Given the description of an element on the screen output the (x, y) to click on. 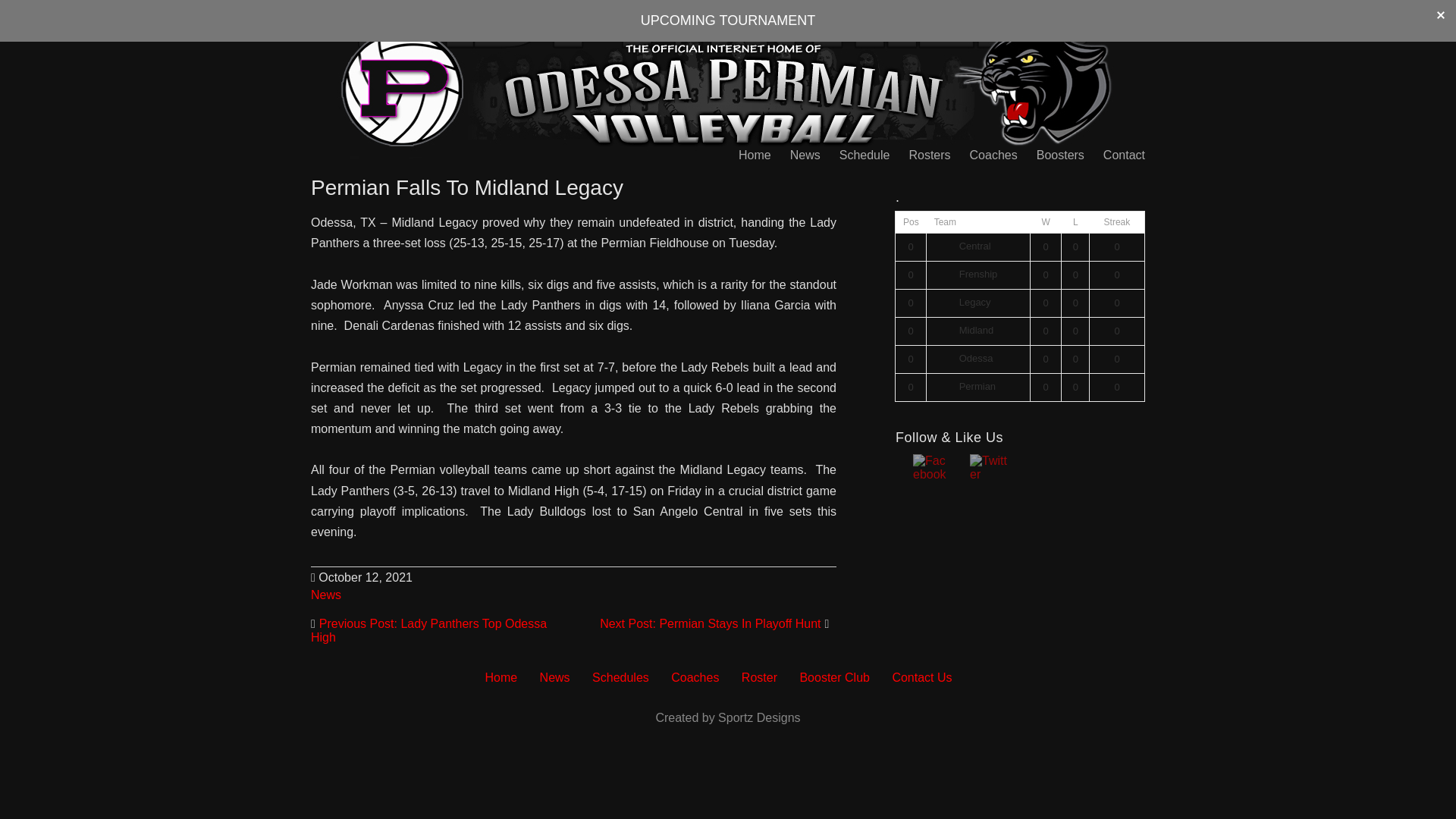
Booster Club (834, 676)
UPCOMING TOURNAMENT (727, 20)
Twitter (988, 467)
News (555, 676)
Previous Post: Lady Panthers Top Odessa High (429, 630)
Coaches (695, 676)
Contact Us (921, 676)
News (805, 155)
Next Post: Permian Stays In Playoff Hunt (710, 623)
